Given the description of an element on the screen output the (x, y) to click on. 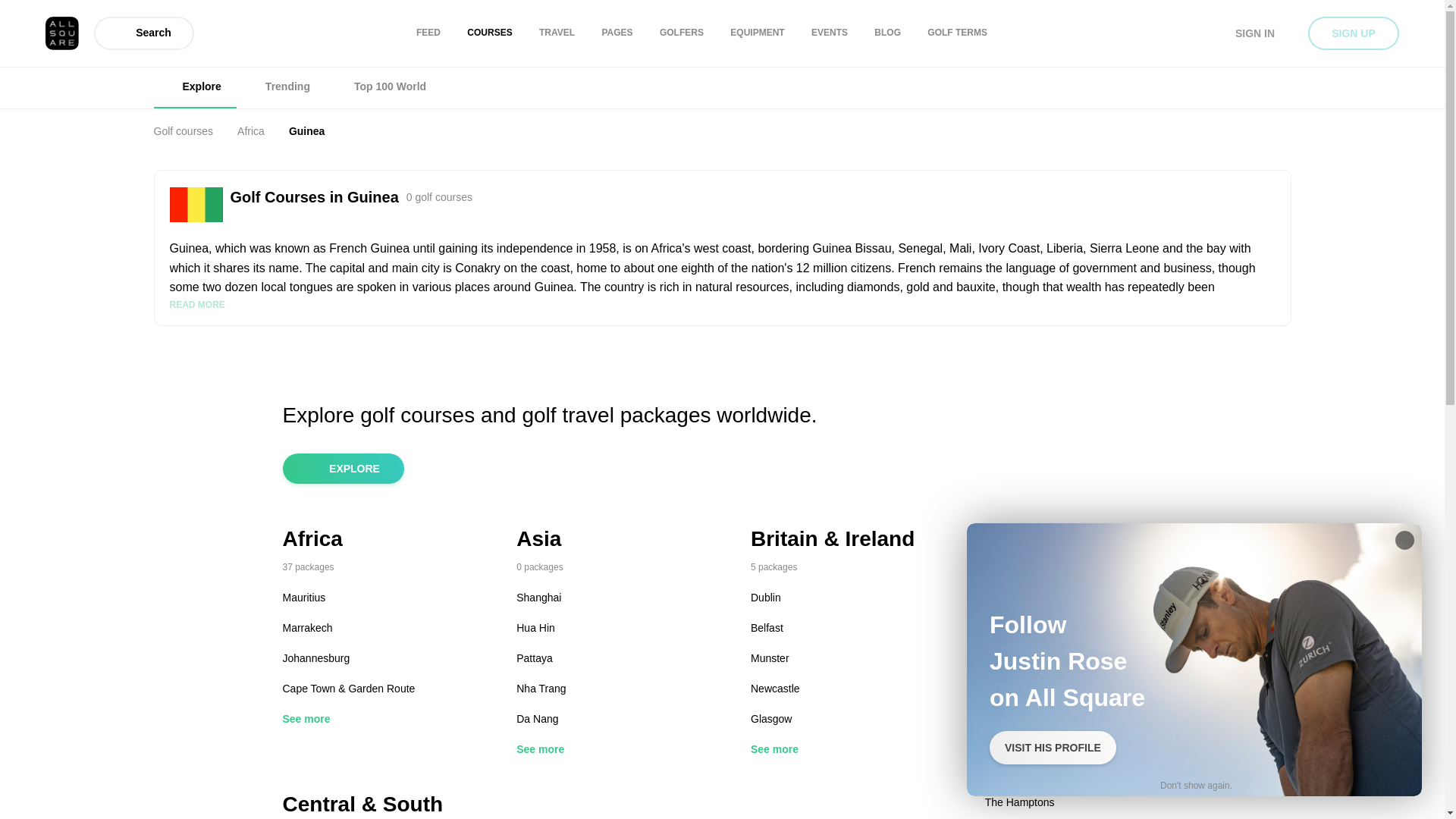
VISIT HIS PROFILE (1053, 747)
GOLF TERMS (957, 32)
Don't show again. (1196, 785)
Search (143, 33)
SIGN UP (1353, 32)
SIGN IN (1254, 32)
